Given the description of an element on the screen output the (x, y) to click on. 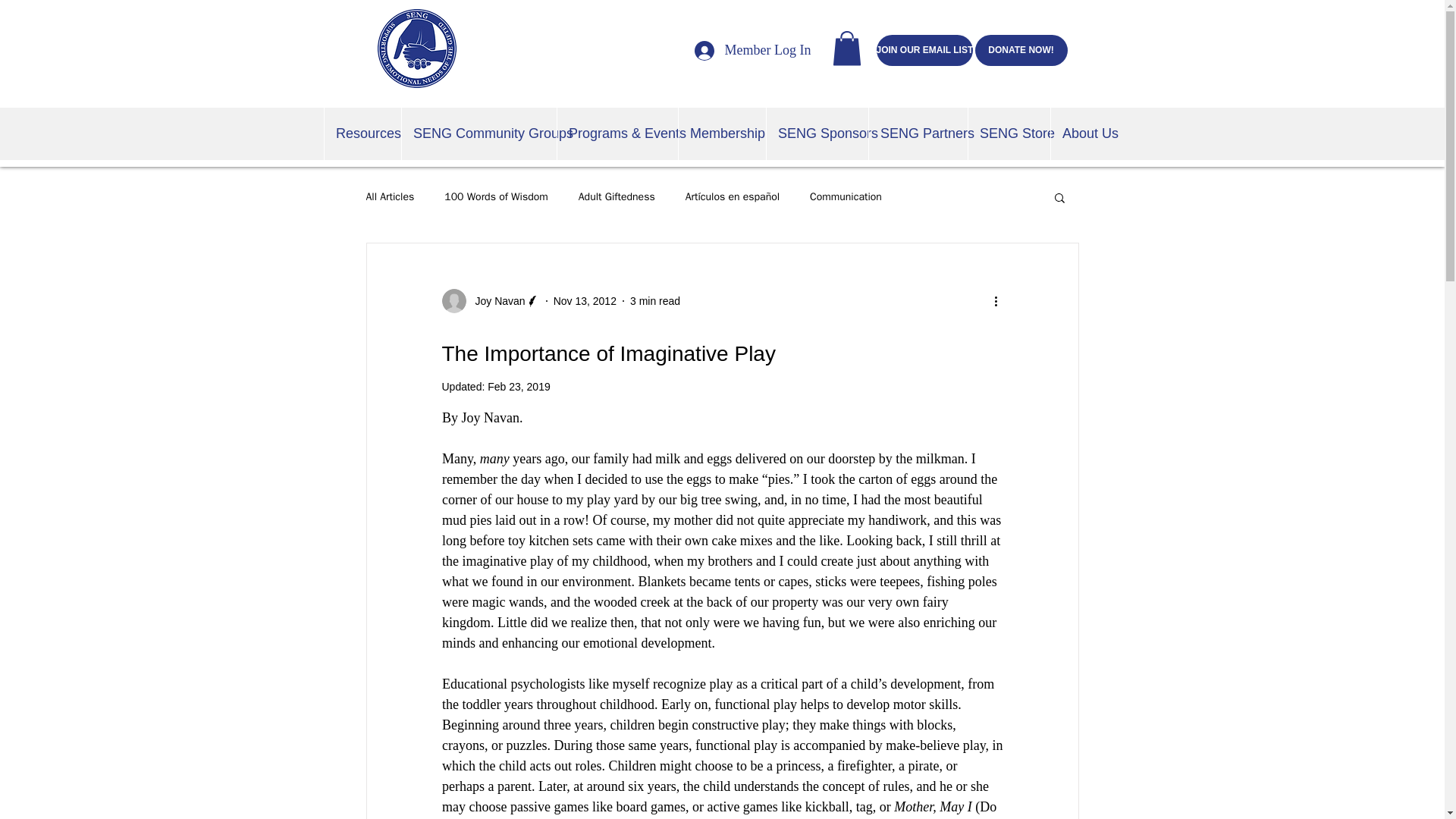
Membership (721, 133)
SENG Sponsors (816, 133)
JOIN OUR EMAIL LIST (925, 50)
SENG Store (1008, 133)
DONATE NOW! (1021, 50)
100 Words of Wisdom (496, 196)
SENG Partners (917, 133)
SENG Community Groups (478, 133)
Nov 13, 2012 (584, 300)
About Us (1085, 133)
